Given the description of an element on the screen output the (x, y) to click on. 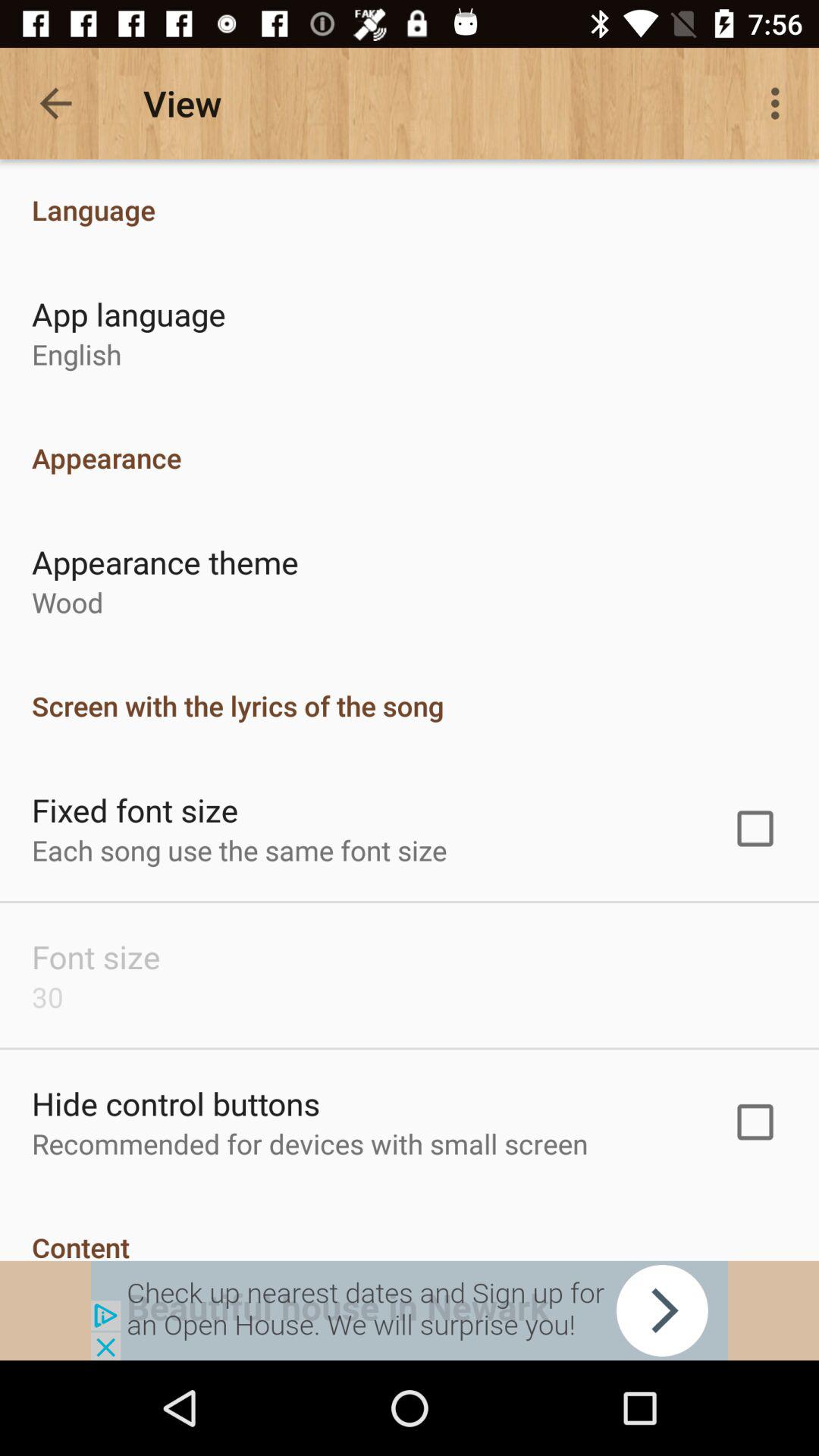
shows the advertisement tab (409, 1310)
